Given the description of an element on the screen output the (x, y) to click on. 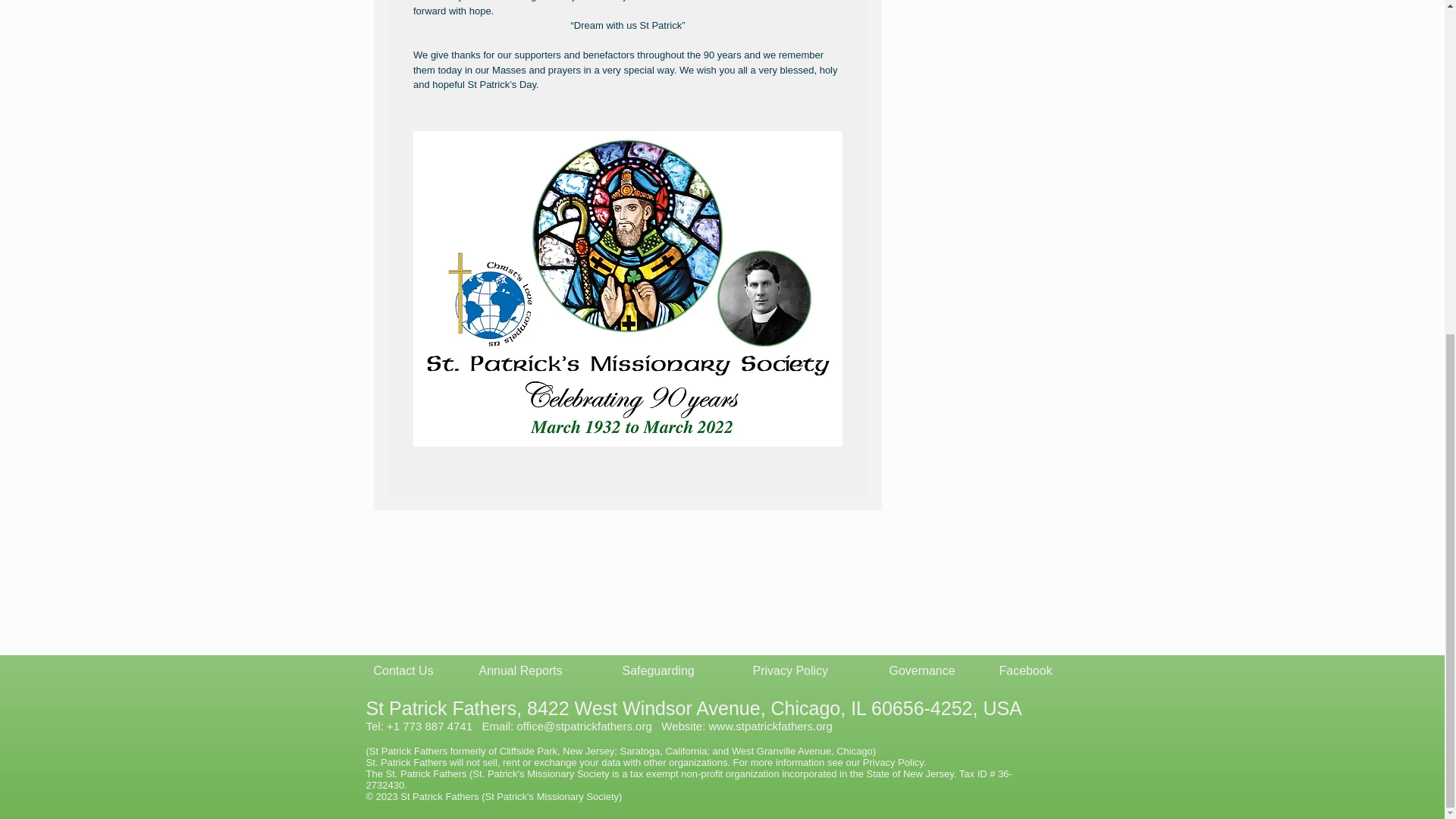
Privacy Policy (790, 670)
Contact Us (402, 670)
Annual Reports (520, 670)
Safeguarding (657, 670)
Facebook (1025, 670)
Governance (921, 670)
